Given the description of an element on the screen output the (x, y) to click on. 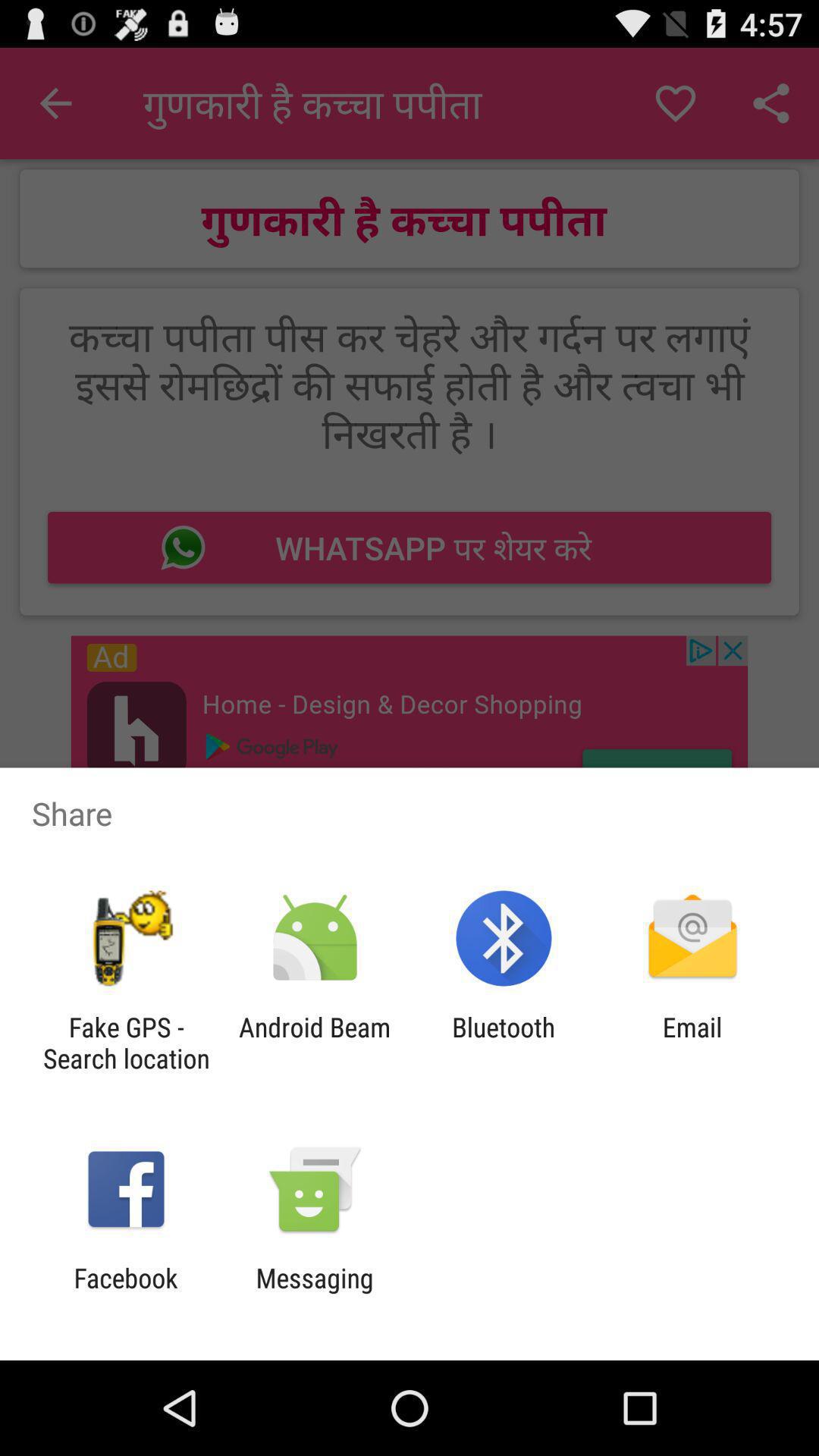
launch fake gps search (125, 1042)
